Given the description of an element on the screen output the (x, y) to click on. 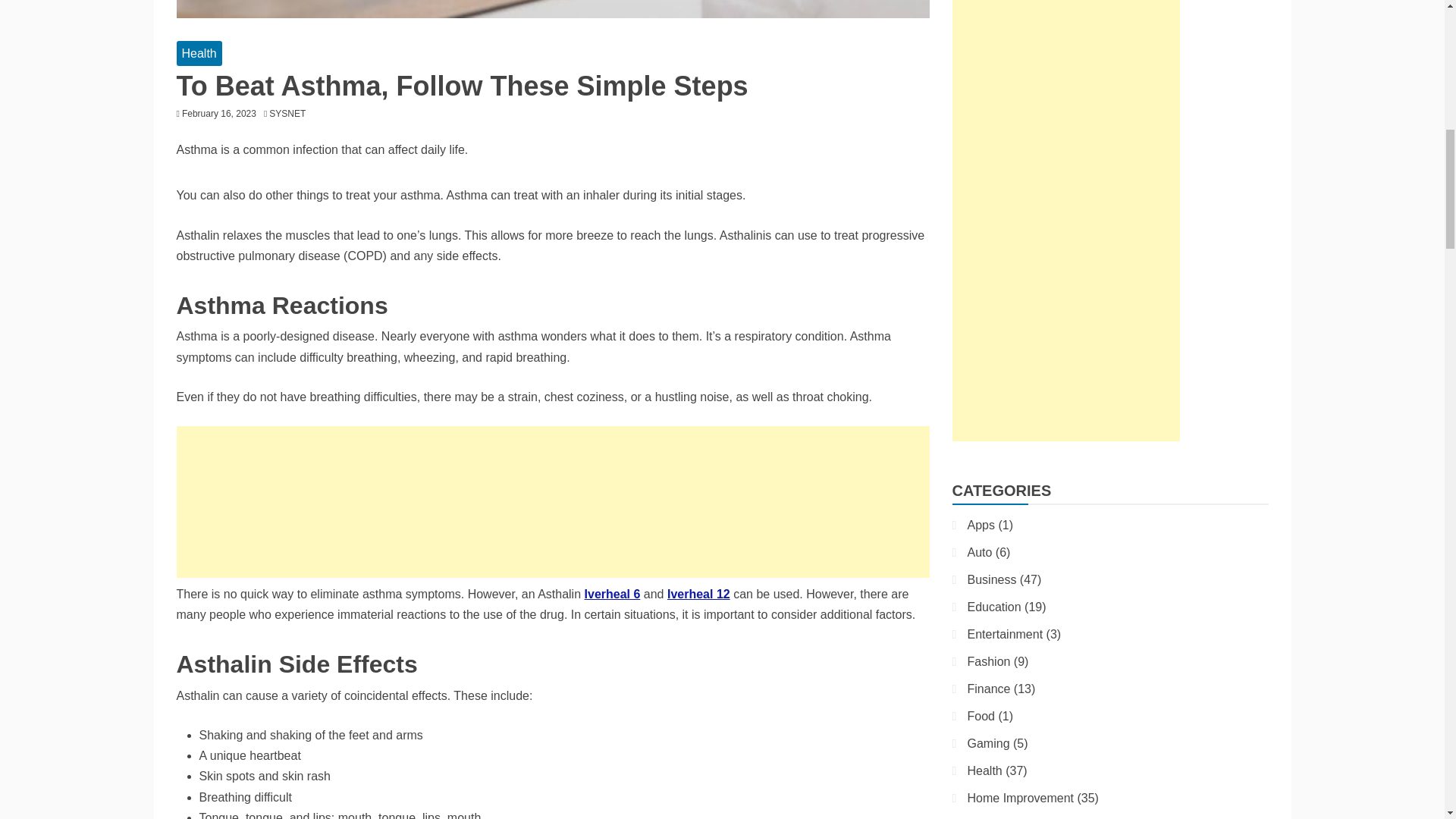
Advertisement (552, 501)
SYSNET (291, 113)
February 16, 2023 (219, 113)
Iverheal 6 (612, 594)
Iverheal 12 (698, 594)
Health (198, 53)
